Given the description of an element on the screen output the (x, y) to click on. 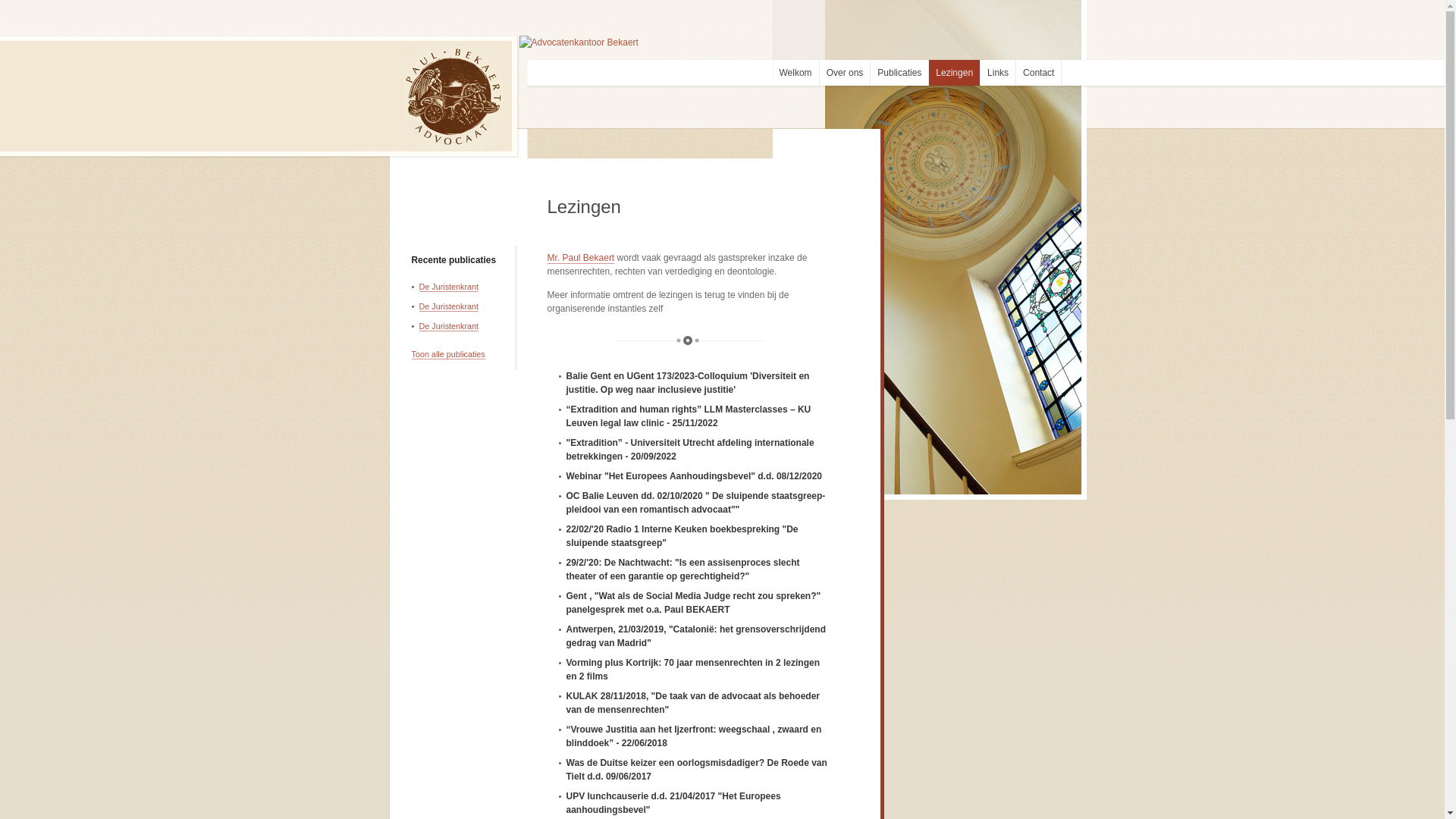
Toon alle publicaties Element type: text (447, 354)
Lezingen Element type: text (953, 72)
De Juristenkrant Element type: text (448, 306)
Links Element type: text (997, 72)
Over ons Element type: text (844, 72)
Welkom Element type: text (794, 72)
Publicaties Element type: text (899, 72)
De Juristenkrant Element type: text (448, 326)
De Juristenkrant Element type: text (448, 286)
Contact Element type: text (1038, 72)
Mr. Paul Bekaert Element type: text (581, 257)
